Given the description of an element on the screen output the (x, y) to click on. 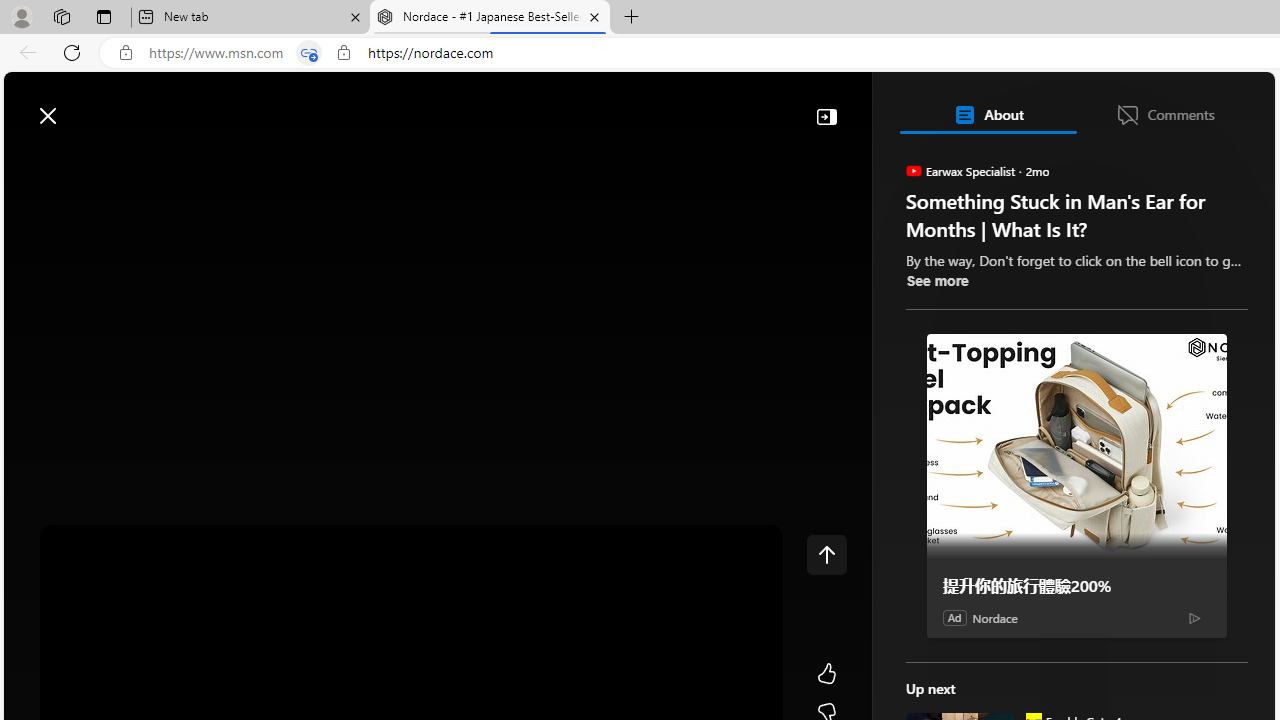
Tabs in split screen (308, 53)
Skip to content (86, 105)
Watch (249, 162)
Following (172, 162)
Microsoft Start (94, 105)
Like (826, 673)
See more (936, 280)
Open navigation menu (29, 162)
Open settings (1230, 105)
About (987, 114)
